Given the description of an element on the screen output the (x, y) to click on. 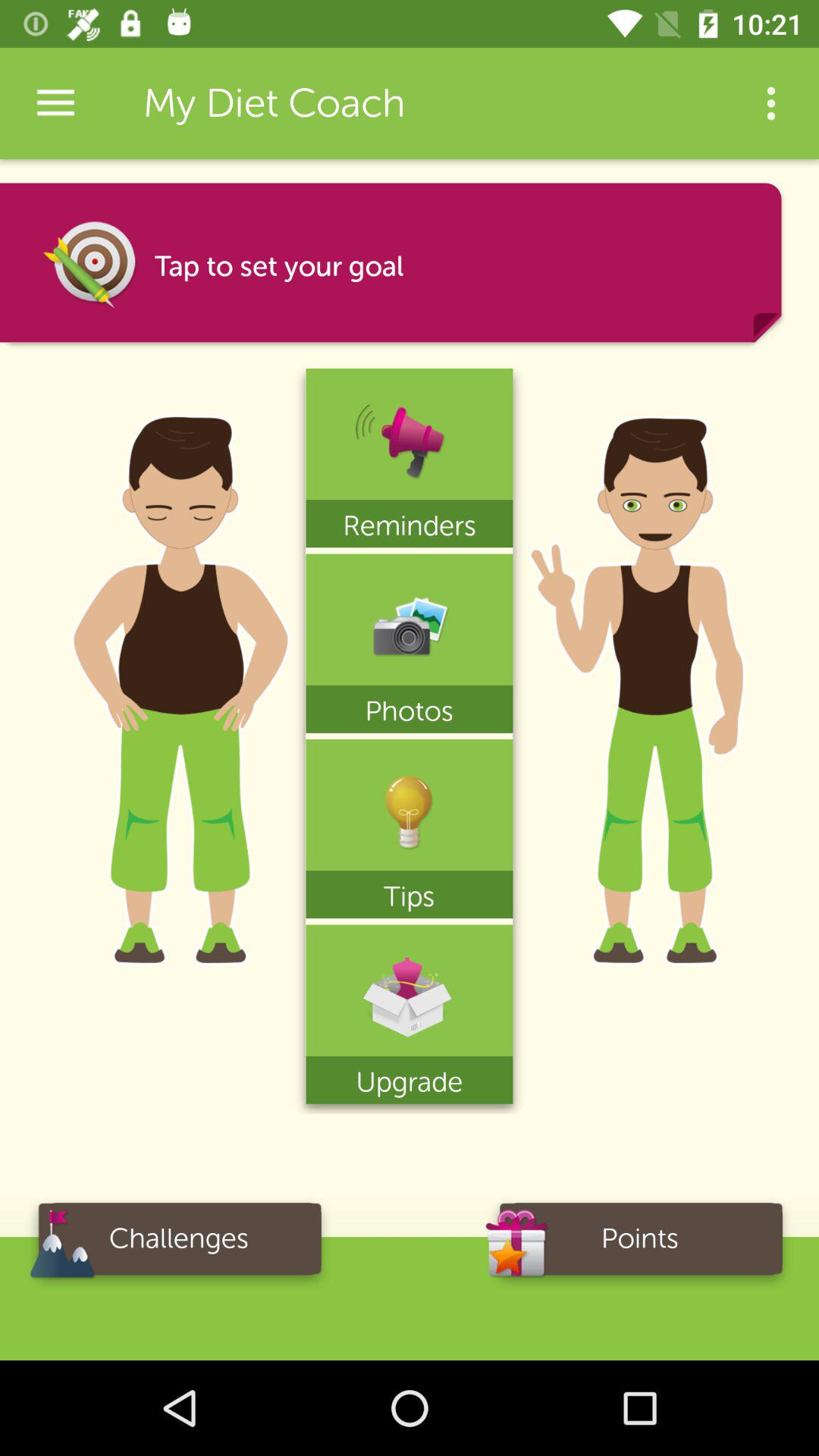
click icon to the right of my diet coach (771, 103)
